Given the description of an element on the screen output the (x, y) to click on. 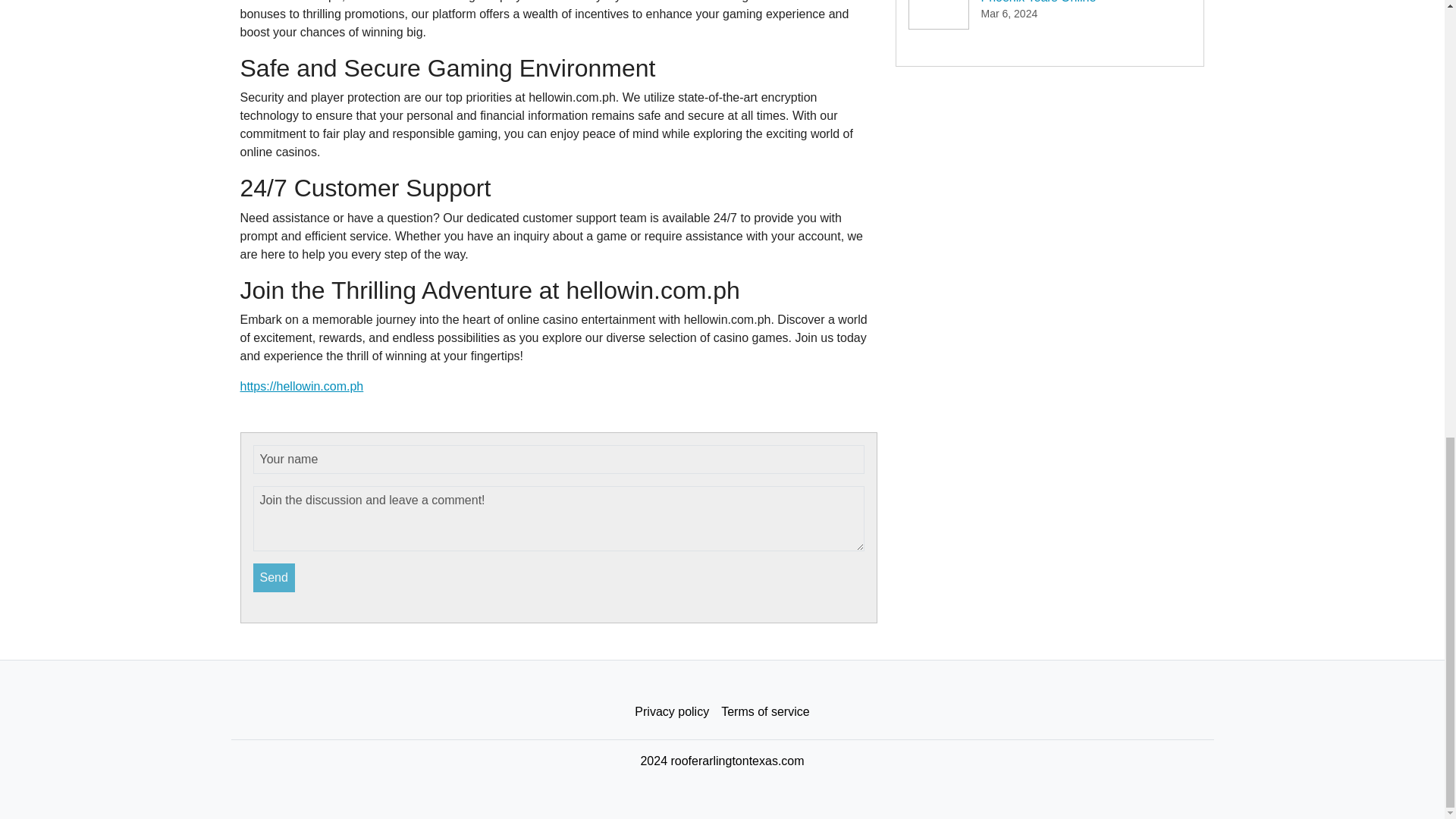
Send (274, 577)
Terms of service (764, 711)
Send (274, 577)
Privacy policy (671, 711)
